Given the description of an element on the screen output the (x, y) to click on. 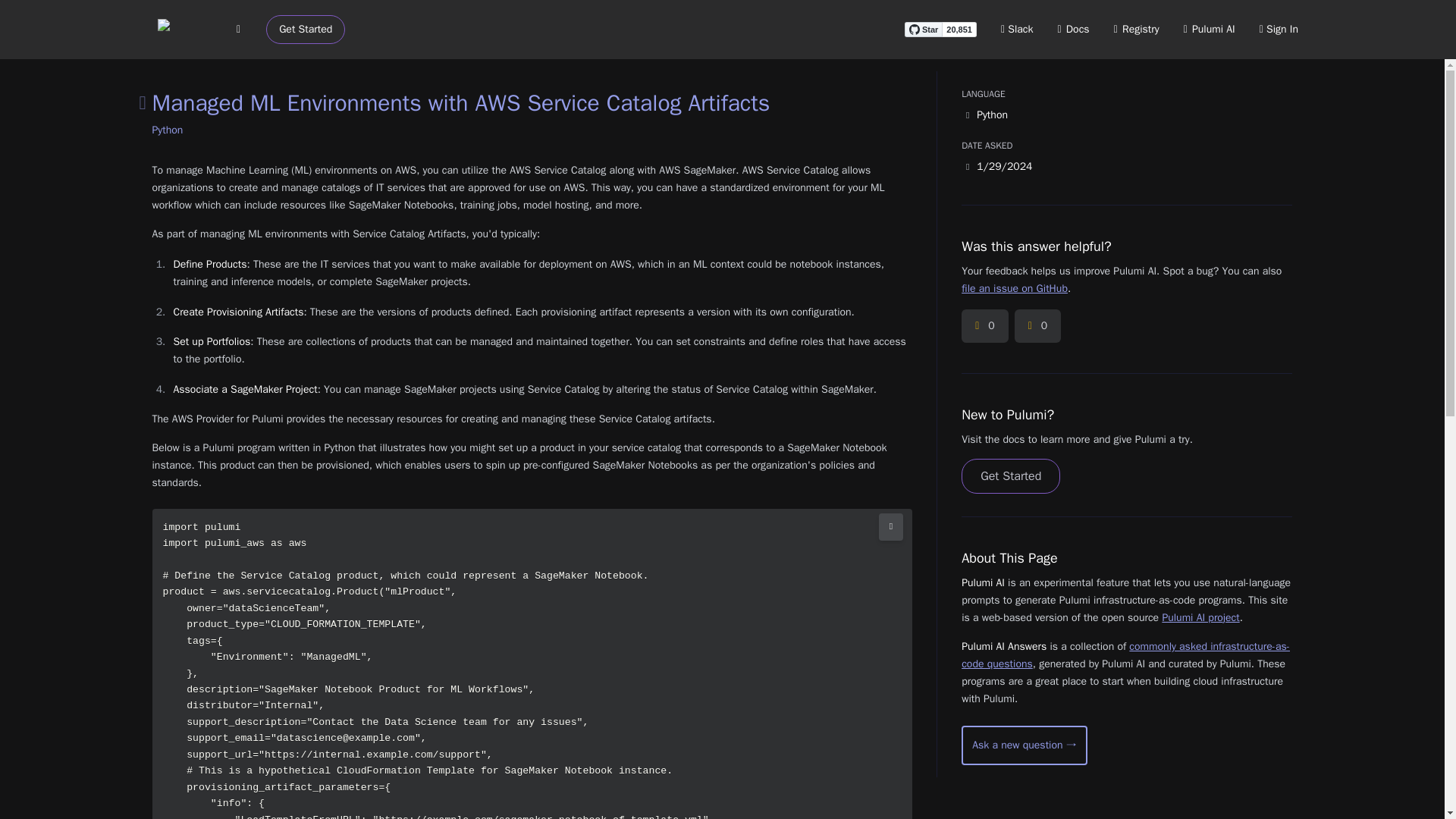
Upvote this answer (984, 326)
Downvote this answer (1037, 326)
Registry (1135, 29)
Pulumi AI (1208, 29)
Docs (1073, 29)
20,851 (959, 29)
 Star (923, 29)
Start a new conversation with Pulumi AI (1023, 744)
Get Started (305, 29)
0 (984, 326)
